Given the description of an element on the screen output the (x, y) to click on. 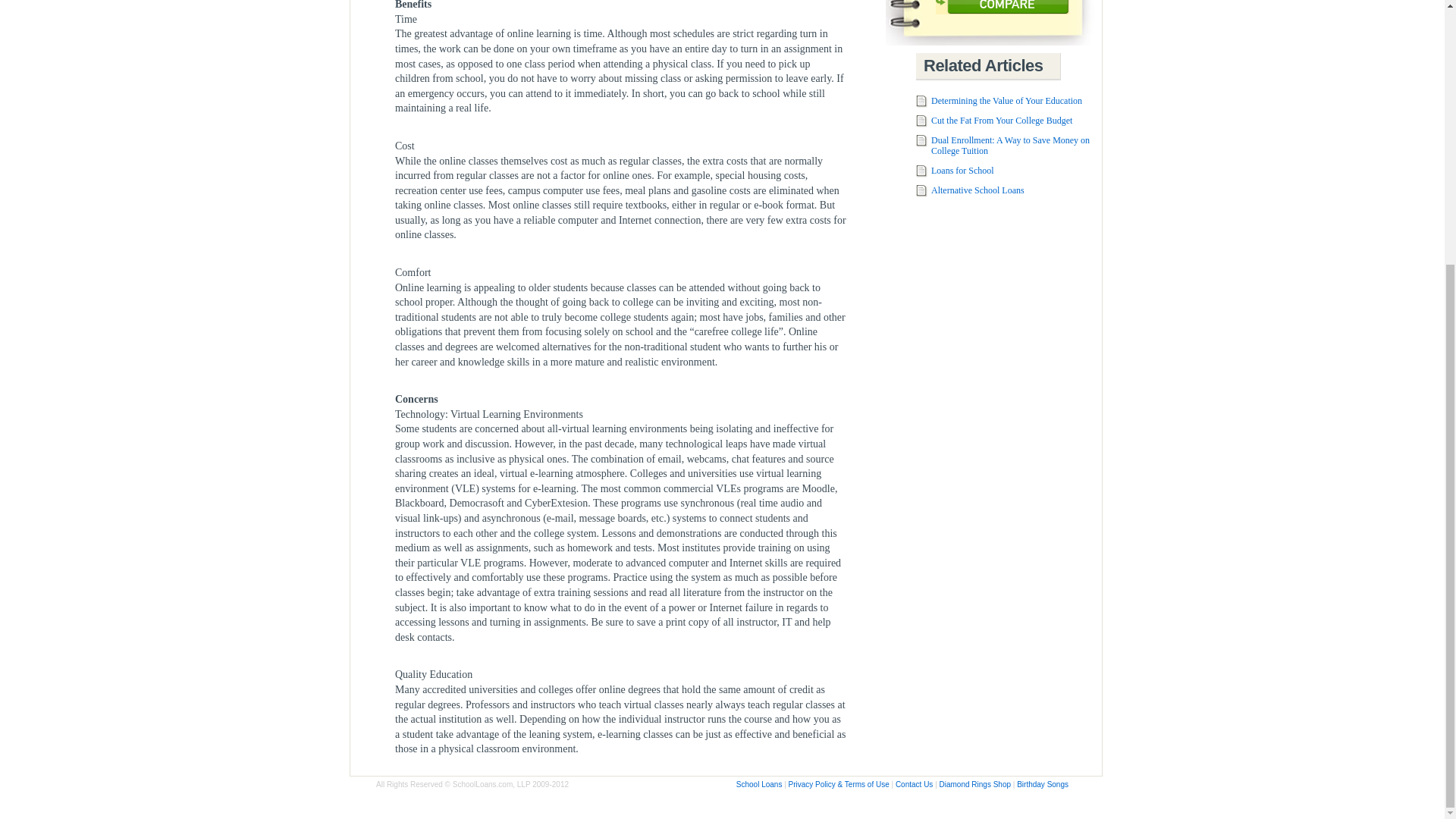
Loans for School (962, 170)
October 10, 2011 (1010, 145)
Determining the Value of Your Education (1006, 100)
Diamond Rings Shop (975, 784)
June 12, 2008 (978, 190)
Contact Us (914, 784)
October 10, 2011 (1001, 120)
Dual Enrollment: A Way to Save Money on College Tuition (1010, 145)
School Loans (759, 784)
Alternative School Loans (978, 190)
June 12, 2008 (962, 170)
Cut the Fat From Your College Budget (1001, 120)
Birthday Songs (1042, 784)
August 5, 2010 (1006, 100)
